Given the description of an element on the screen output the (x, y) to click on. 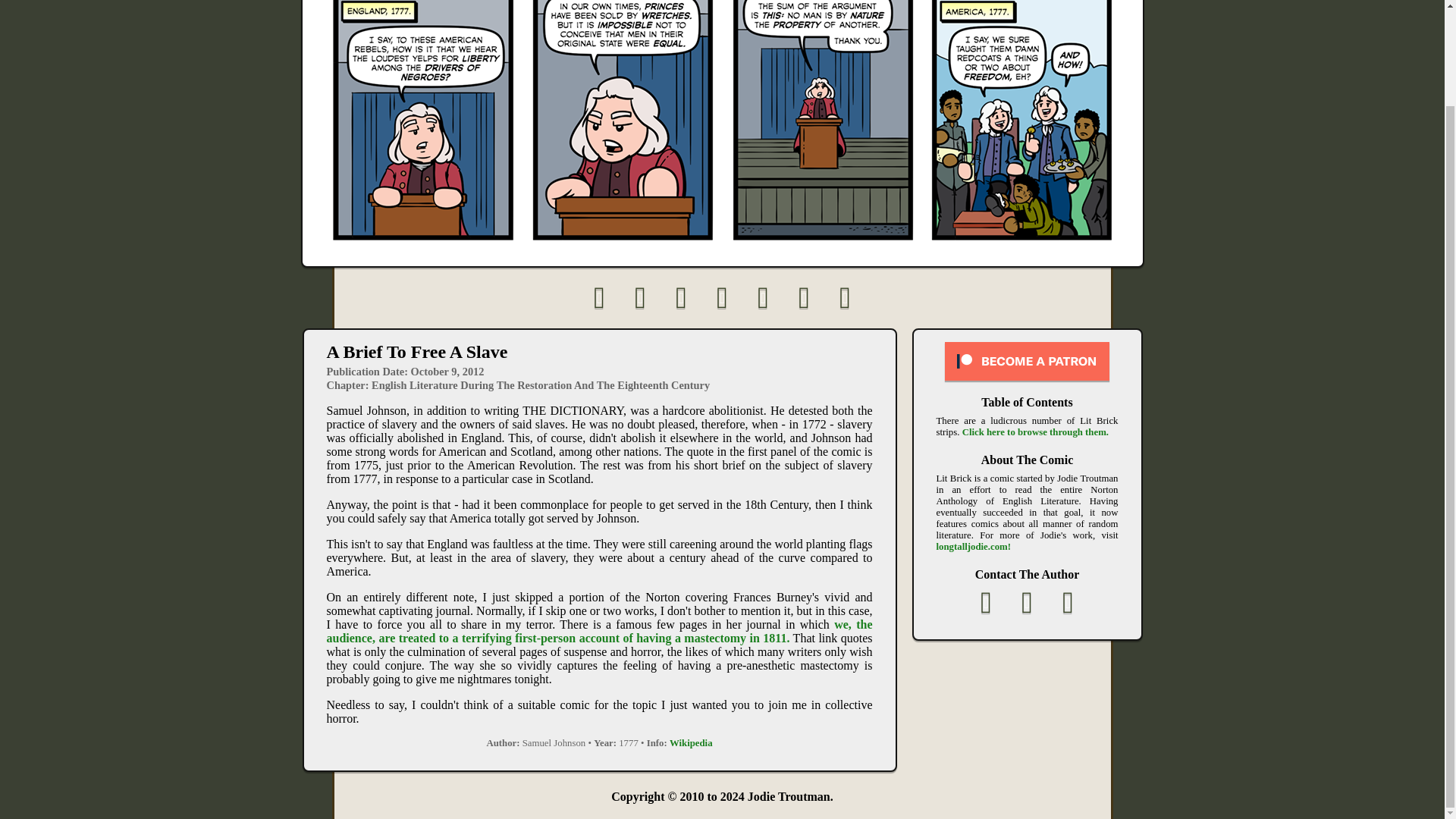
Last Comic (845, 297)
Next Comic (805, 297)
First Comic (599, 297)
E-Mail The Author (987, 603)
Homepage (722, 297)
Click here to browse through them. (1035, 431)
RSS Feed (763, 297)
longtalljodie.com! (973, 546)
Previous Comic (640, 297)
